Given the description of an element on the screen output the (x, y) to click on. 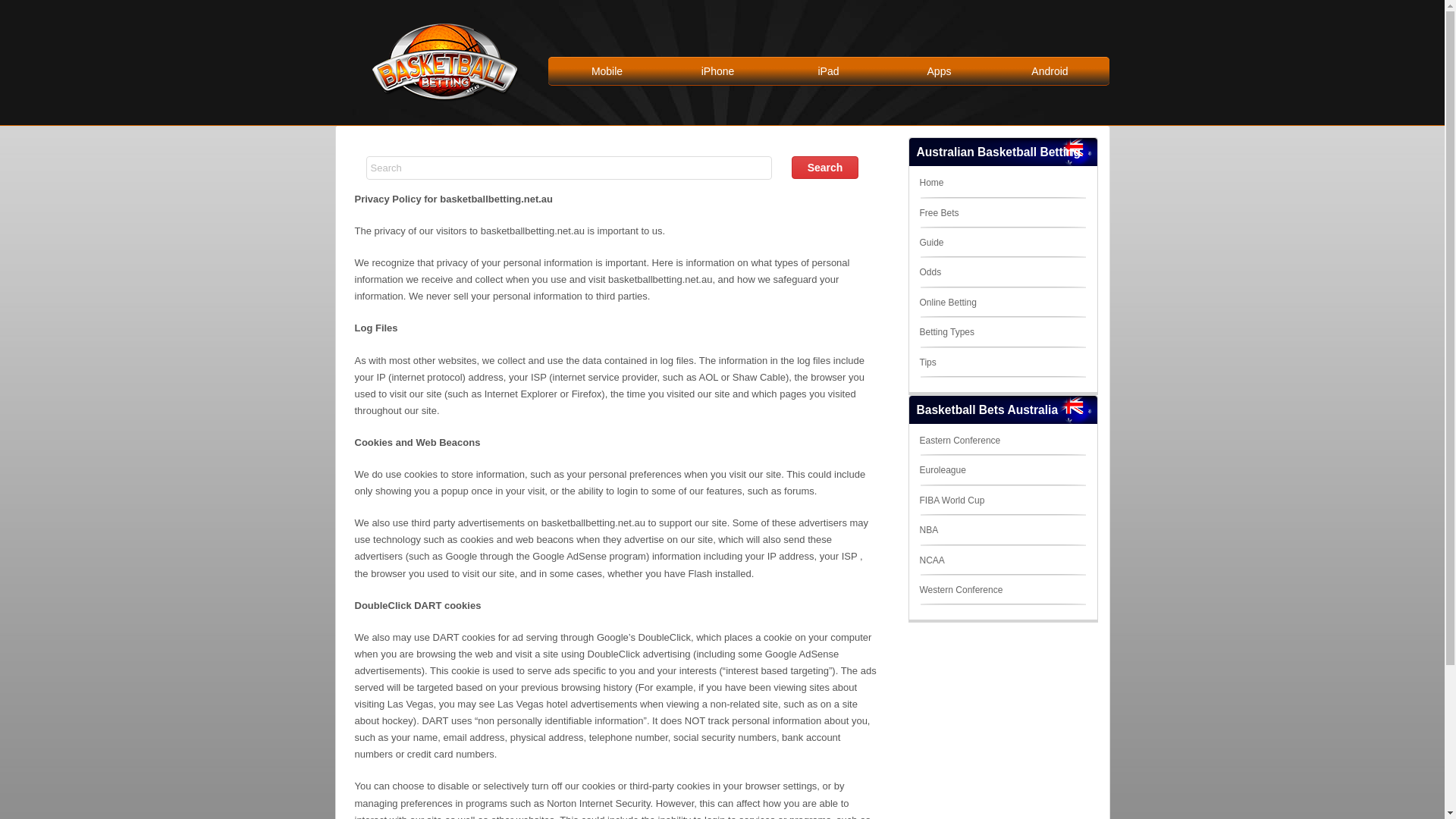
Online Betting Element type: text (947, 302)
Android Element type: text (1049, 70)
Betting Types Element type: text (946, 331)
iPad Element type: text (828, 70)
Free Bets Element type: text (938, 212)
Euroleague Element type: text (942, 469)
Eastern Conference Element type: text (959, 440)
Home Element type: text (931, 182)
Mobile Element type: text (607, 70)
Tips Element type: text (927, 361)
iPhone Element type: text (717, 70)
Odds Element type: text (930, 271)
Western Conference Element type: text (960, 589)
Search Element type: text (824, 167)
Guide Element type: text (931, 242)
NCAA Element type: text (931, 560)
Apps Element type: text (939, 70)
FIBA World Cup Element type: text (951, 500)
NBA Element type: text (928, 529)
